Given the description of an element on the screen output the (x, y) to click on. 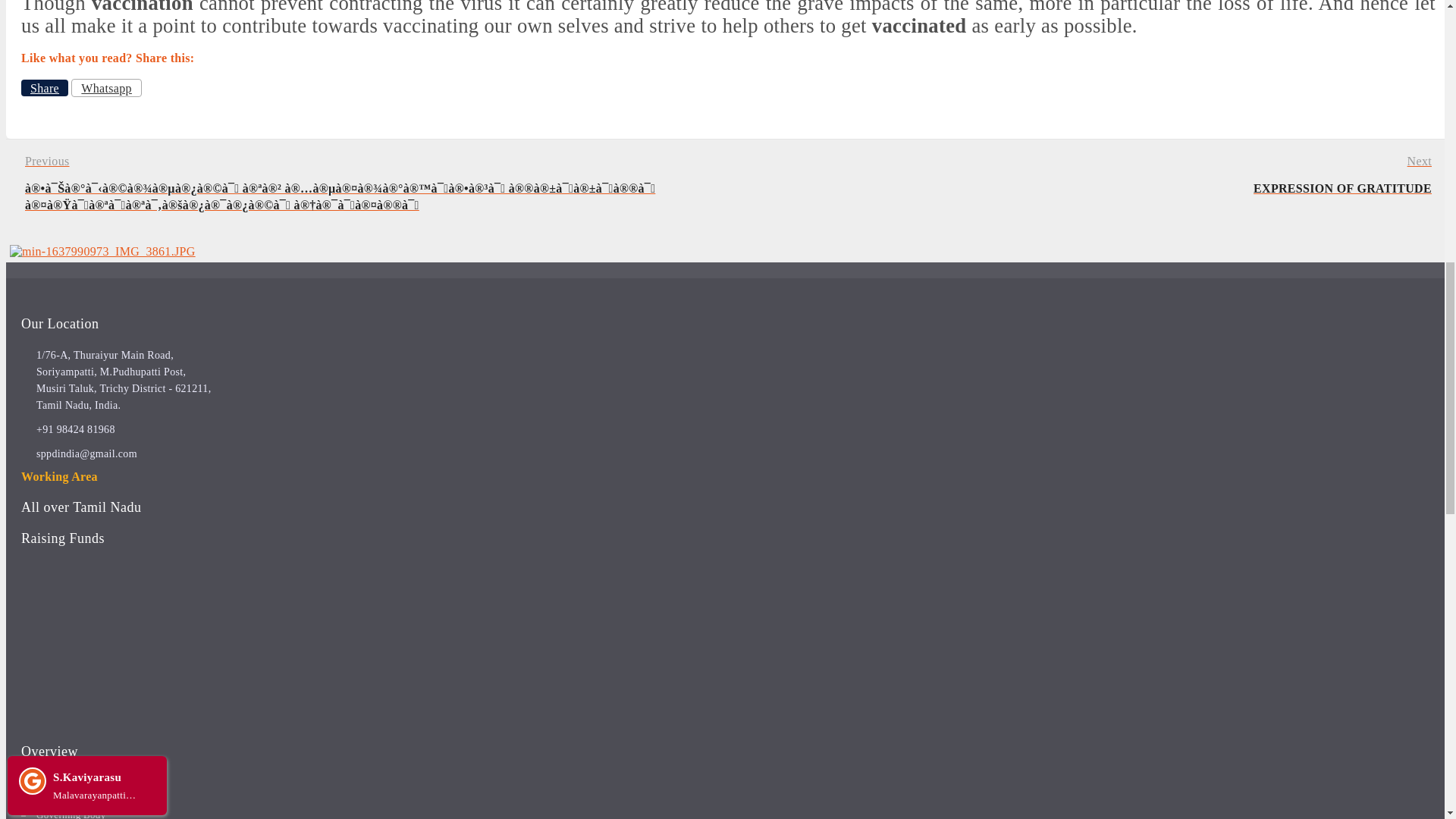
Whatsapp (106, 87)
Governing Body (1106, 175)
Share (71, 814)
